Given the description of an element on the screen output the (x, y) to click on. 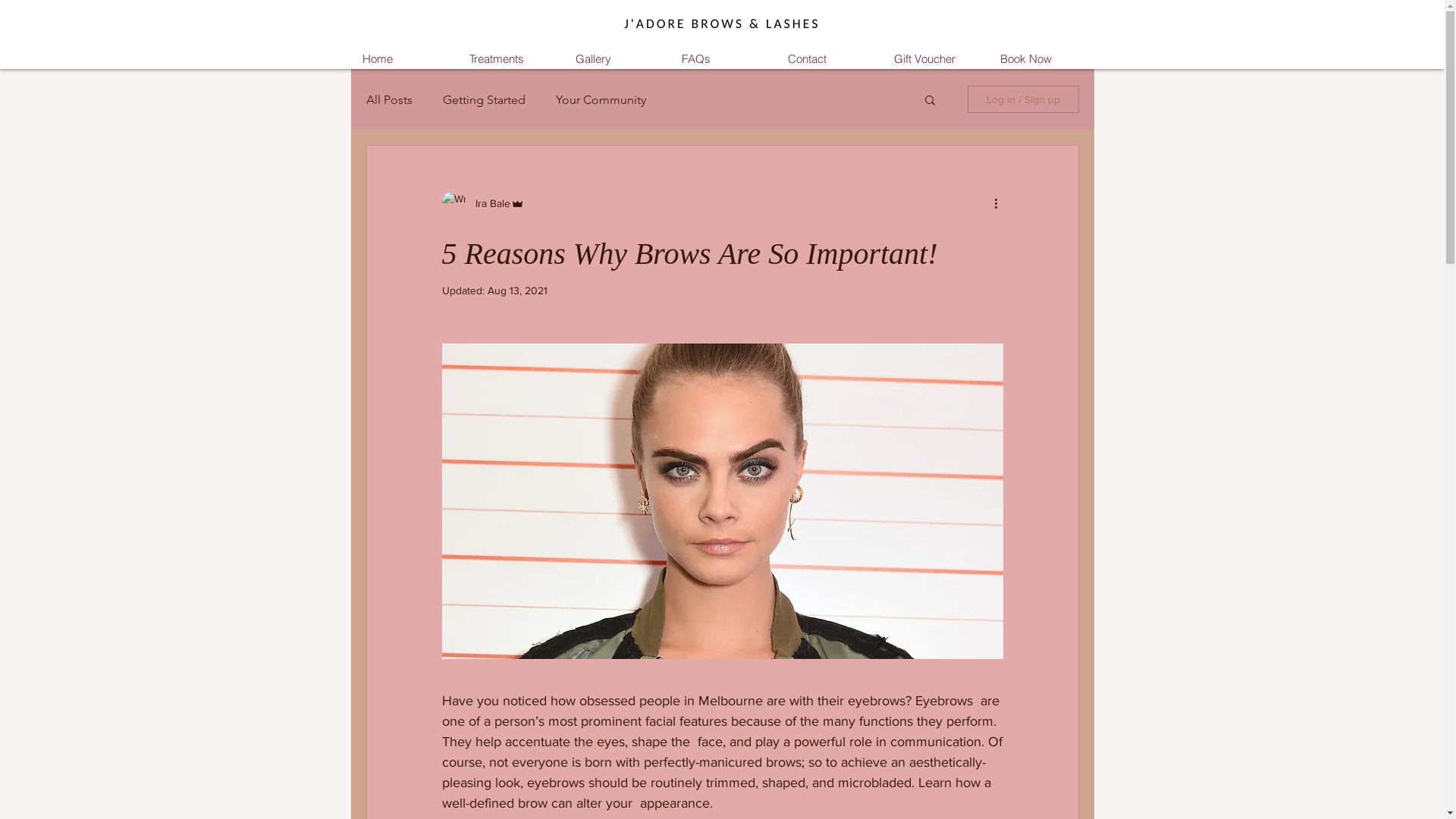
Book Now Element type: text (1040, 58)
Getting Started Element type: text (483, 99)
Your Community Element type: text (600, 99)
Contact Element type: text (828, 58)
FAQs Element type: text (721, 58)
Home Element type: text (403, 58)
All Posts Element type: text (388, 99)
Treatments Element type: text (509, 58)
Log in / Sign up Element type: text (1023, 98)
Gift Voucher Element type: text (934, 58)
Gallery Element type: text (615, 58)
